Given the description of an element on the screen output the (x, y) to click on. 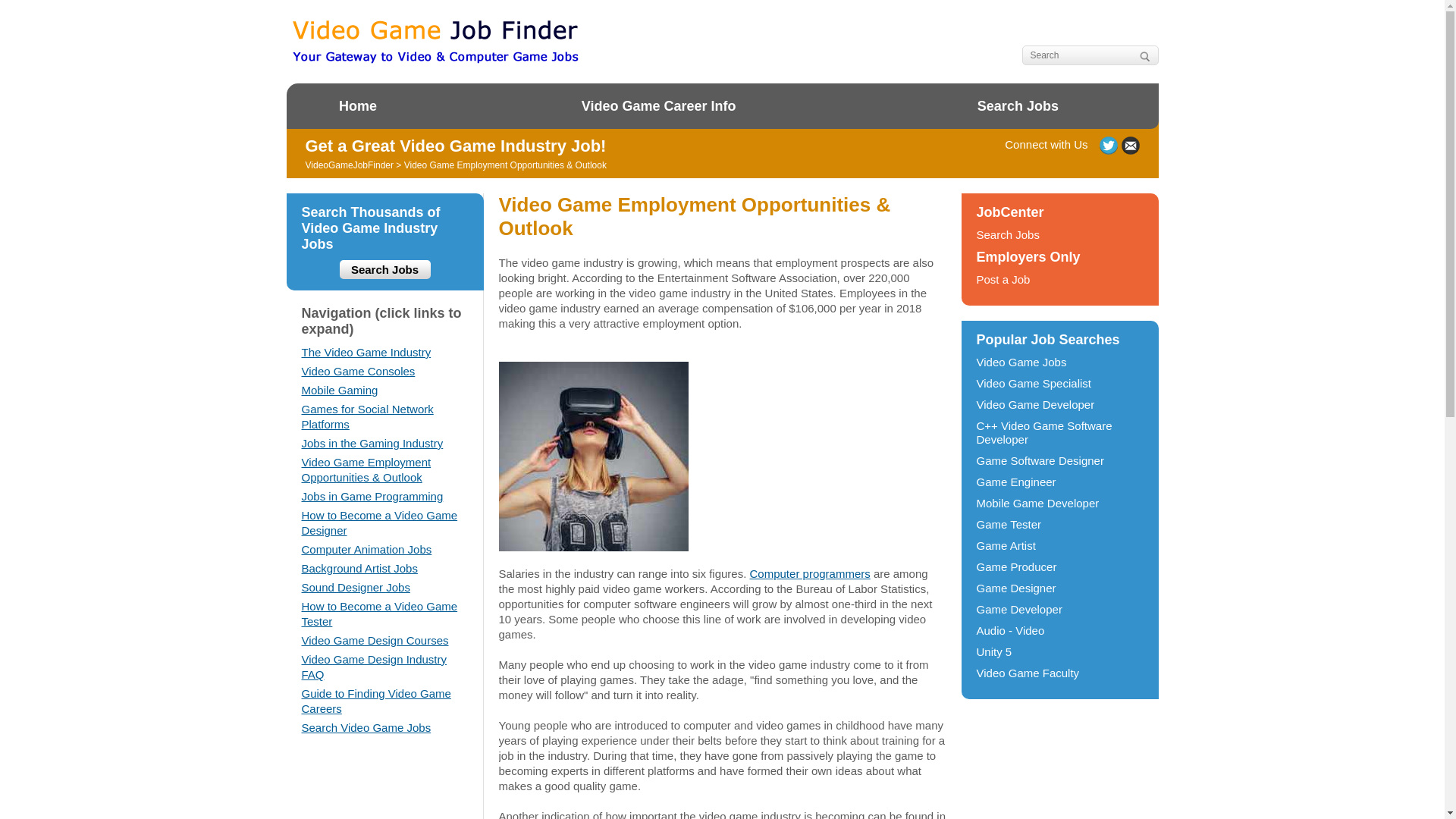
Game Software Designer (1039, 460)
Search Video Game Jobs (365, 727)
Sound Designer Jobs (355, 586)
Jobs in the Gaming Industry (372, 442)
How to Become a Video Game Designer (379, 522)
Background Artist Jobs (359, 567)
Guide to Finding Video Game Careers (376, 700)
Video Game Consoles (357, 370)
Search (1144, 56)
VideoGameJobFinder (348, 164)
Video Game Design Courses (374, 640)
Mobile Gaming (339, 390)
Video Game Design Courses (374, 640)
Computer Animation Jobs (366, 549)
Search Jobs (1017, 105)
